Given the description of an element on the screen output the (x, y) to click on. 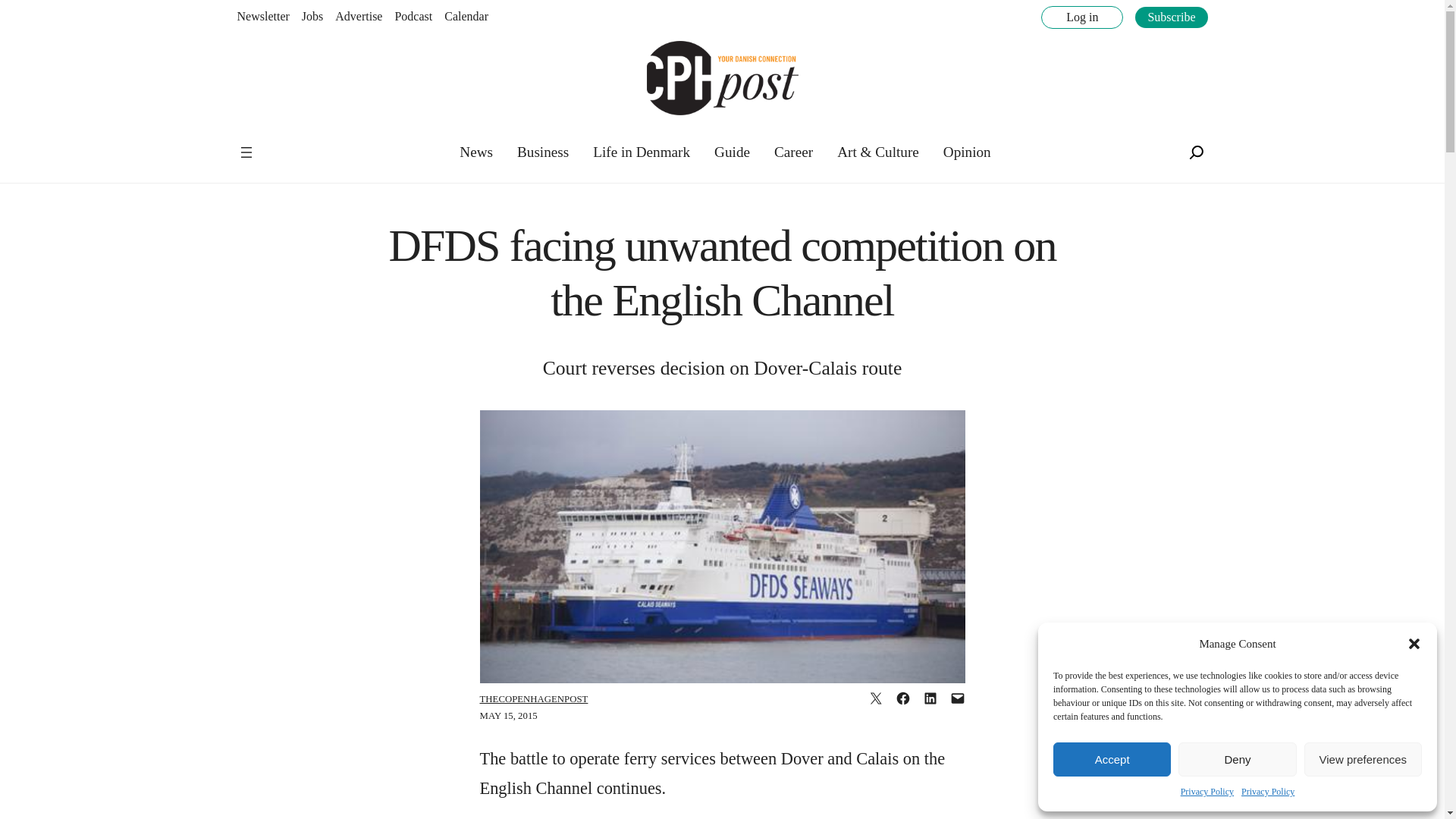
Privacy Policy (1206, 791)
Deny (1236, 759)
Privacy Policy (1267, 791)
Posts by TheCopenhagenPost (533, 698)
View preferences (1363, 759)
Accept (1111, 759)
The Copenhagen Post (284, 143)
